Given the description of an element on the screen output the (x, y) to click on. 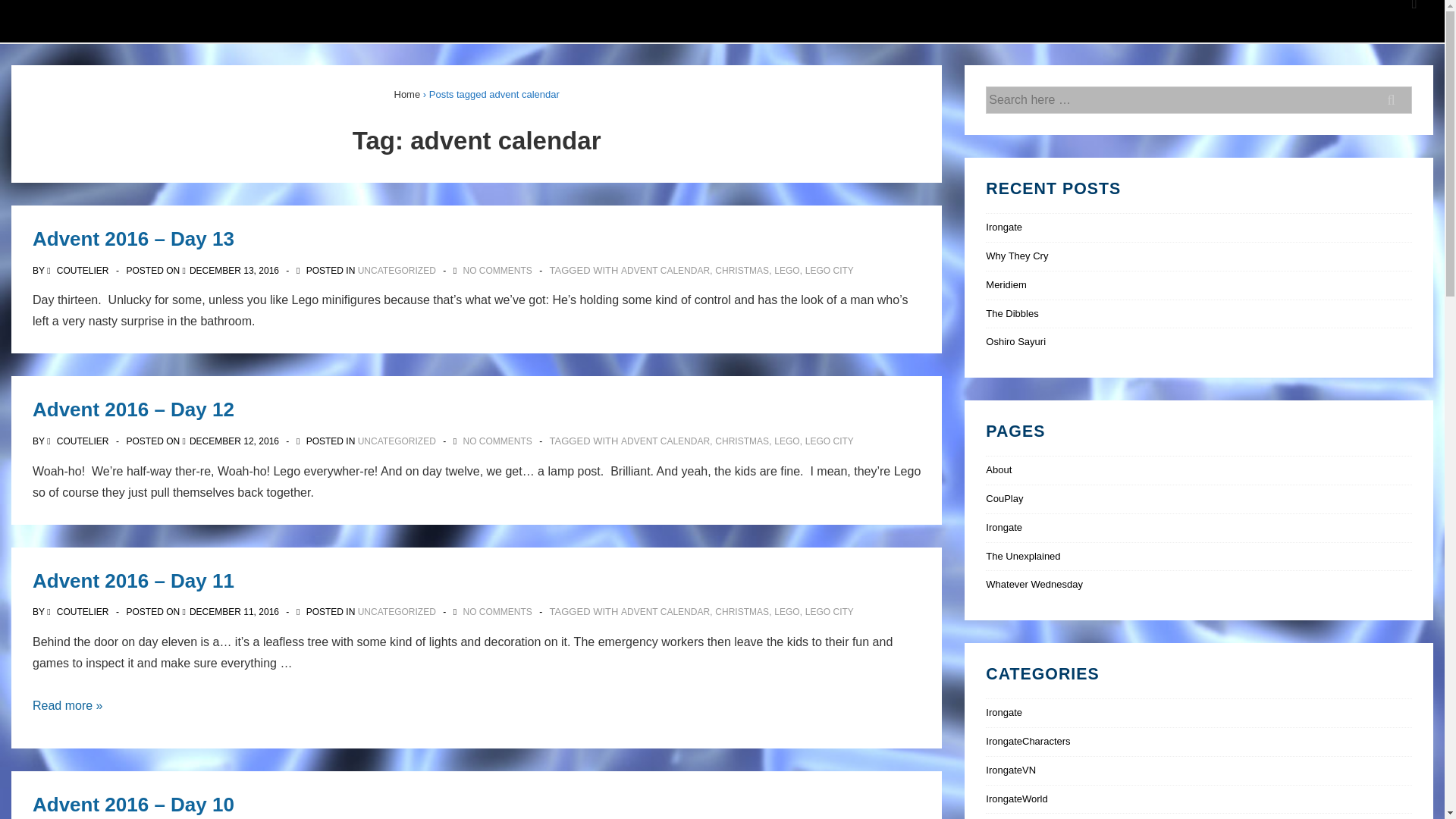
LEGO (786, 270)
NO COMMENTS (497, 611)
NO COMMENTS (497, 270)
ADVENT CALENDAR (665, 270)
DECEMBER 11, 2016 (234, 611)
UNCATEGORIZED (396, 440)
LEGO (786, 611)
ADVENT CALENDAR (665, 440)
COUTELIER (79, 270)
CHRISTMAS (741, 270)
